Given the description of an element on the screen output the (x, y) to click on. 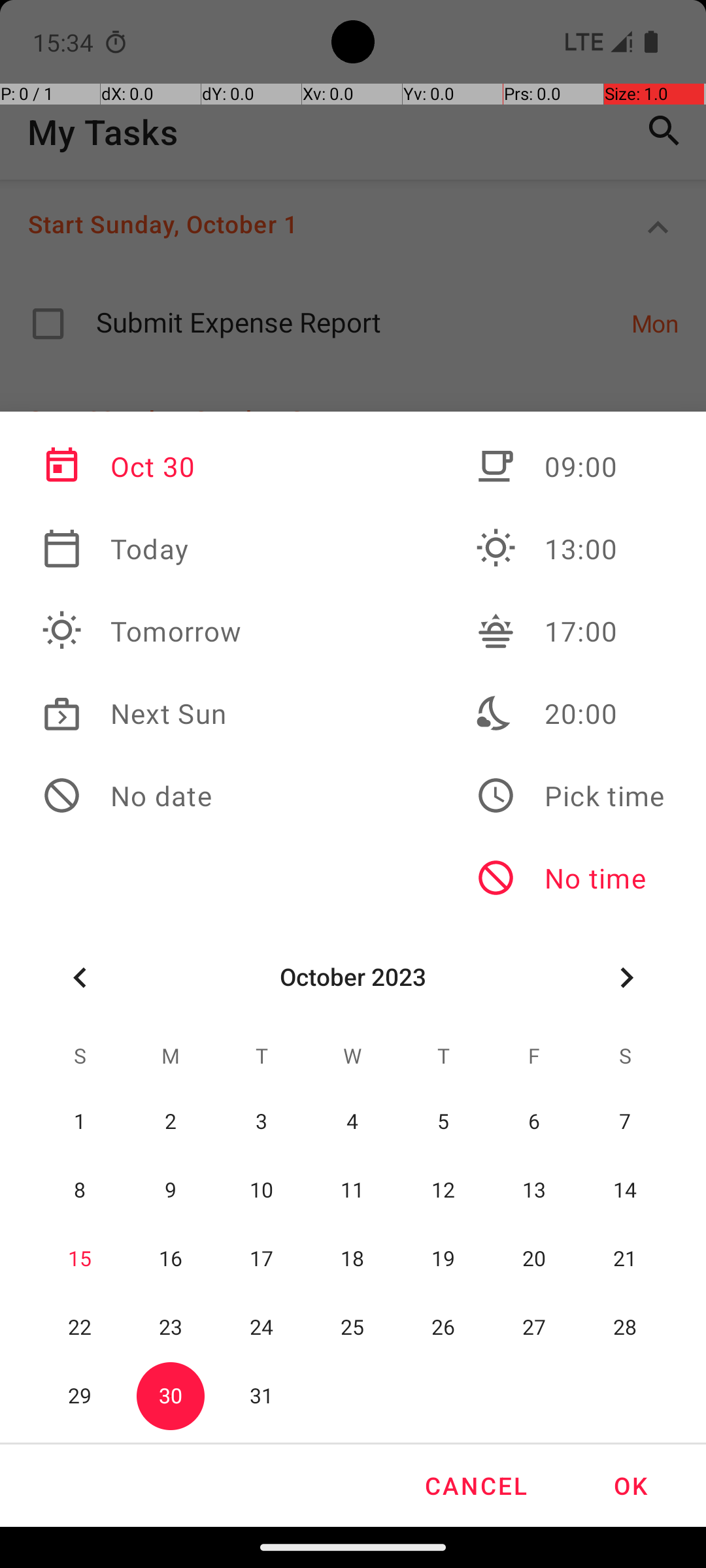
Oct 30 Element type: android.widget.CompoundButton (141, 466)
